Given the description of an element on the screen output the (x, y) to click on. 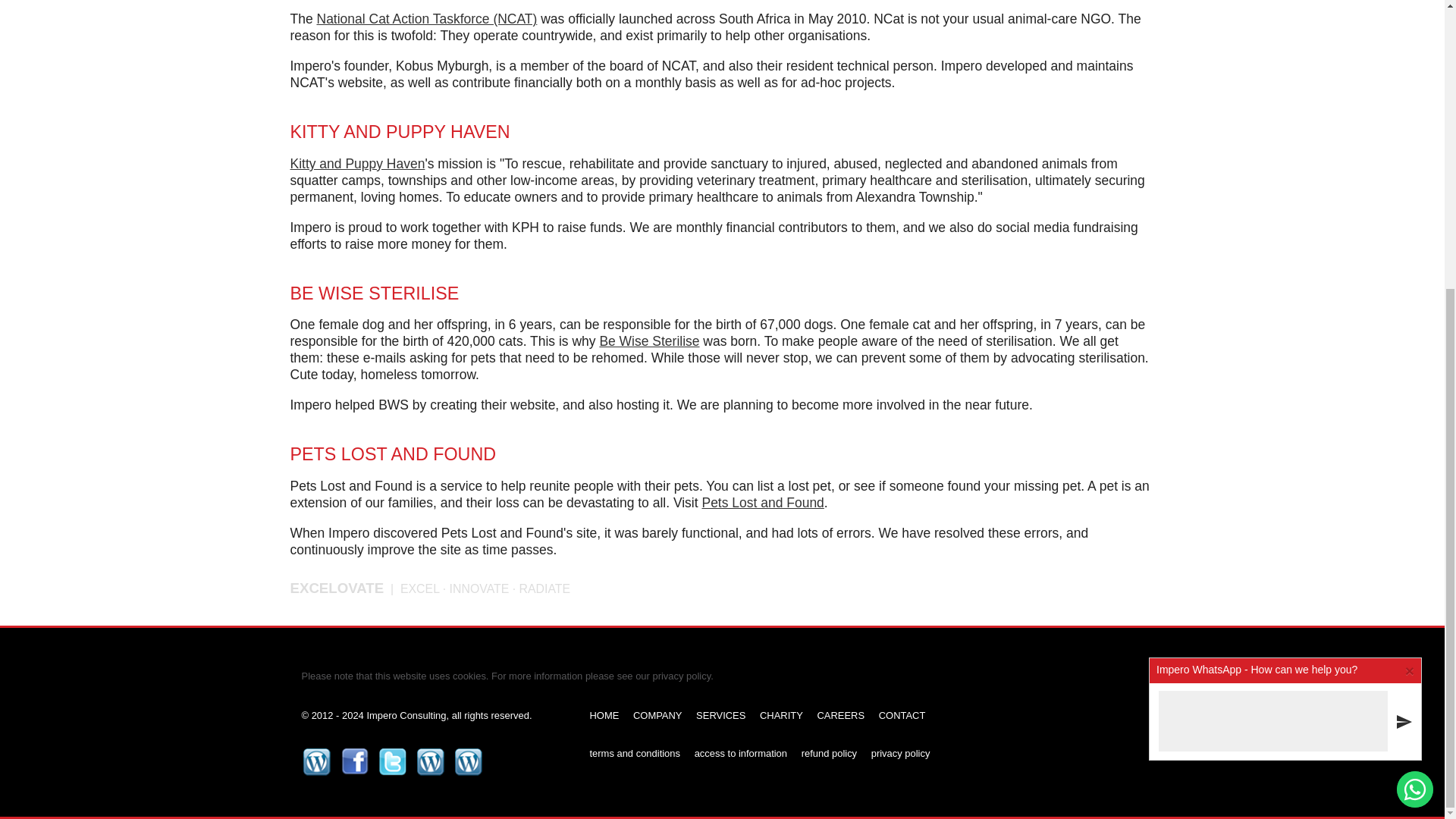
terms and conditions (640, 758)
HOME (609, 720)
Impero Consulting's Corporate Blog (316, 761)
Kitty and Puppy Haven (357, 163)
CAREERS (846, 720)
Be Wise Sterilise (648, 340)
refund policy (834, 758)
SERVICES (726, 720)
Impero Consulting on Facebook (354, 761)
CHARITY (786, 720)
Click here to return to the Impero Consulting homepage. (609, 720)
Click here to contact Impero Consulting. (908, 720)
